Given the description of an element on the screen output the (x, y) to click on. 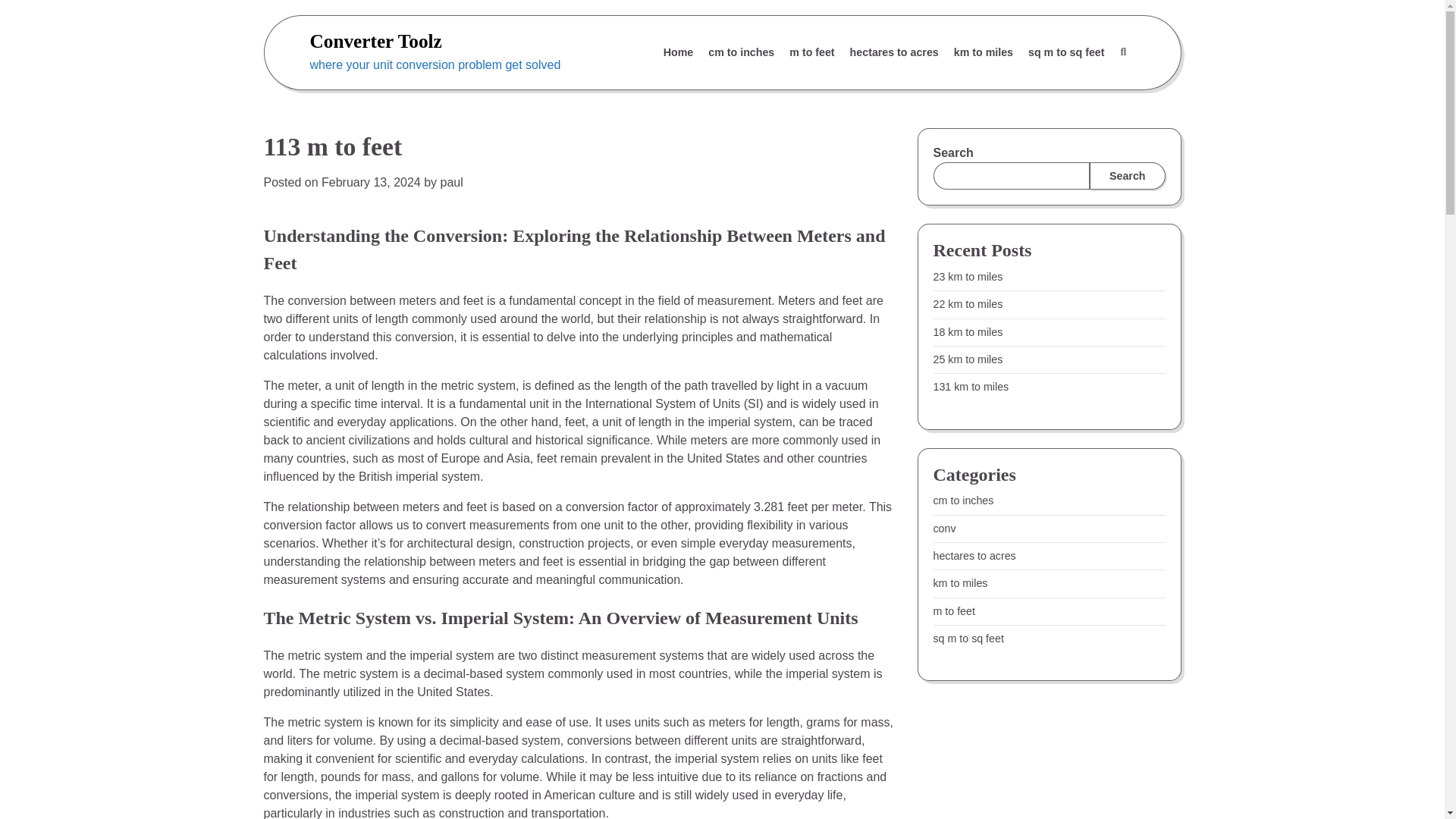
cm to inches (740, 51)
Search (1123, 51)
Converter Toolz (374, 40)
cm to inches (962, 500)
hectares to acres (973, 555)
km to miles (960, 582)
25 km to miles (968, 358)
m to feet (953, 611)
conv (944, 528)
131 km to miles (971, 386)
